Given the description of an element on the screen output the (x, y) to click on. 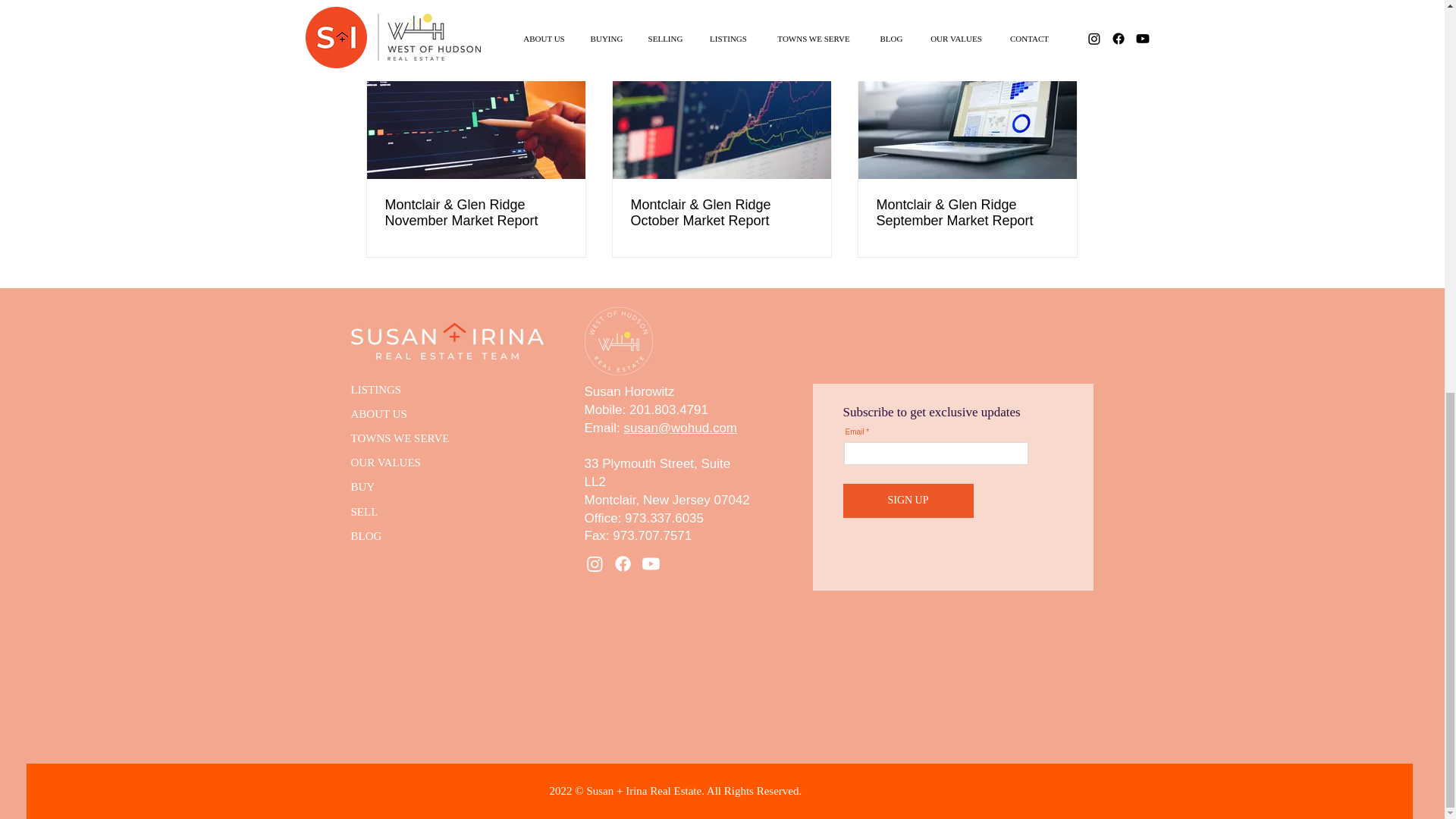
SIGN UP (908, 500)
See All (1061, 29)
